Given the description of an element on the screen output the (x, y) to click on. 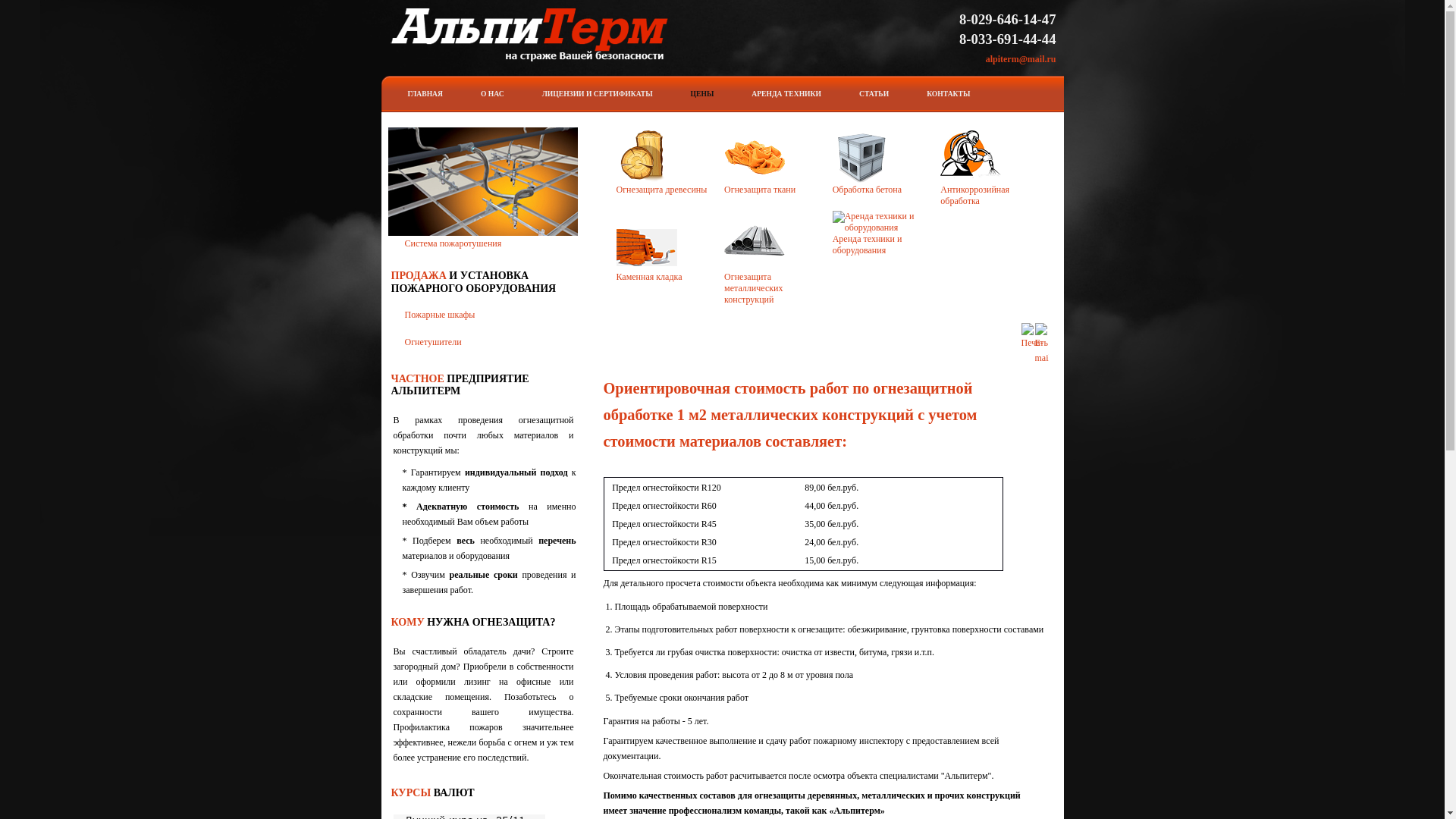
alpiterm@mail.ru Element type: text (1020, 58)
E-mail Element type: hover (1042, 357)
